Given the description of an element on the screen output the (x, y) to click on. 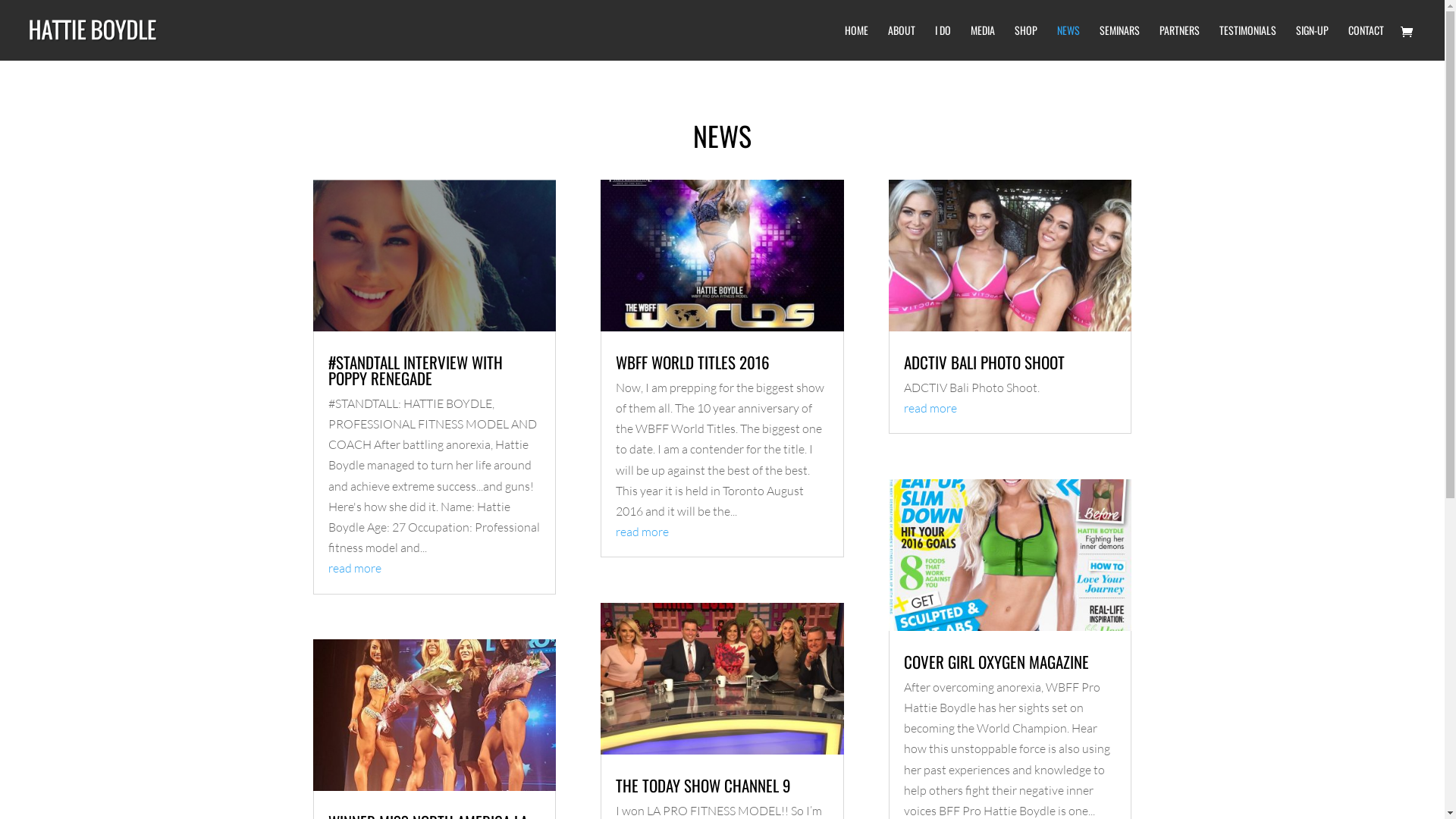
I DO Element type: text (942, 42)
SEMINARS Element type: text (1119, 42)
NEWS Element type: text (1068, 42)
read more Element type: text (641, 531)
ABOUT Element type: text (901, 42)
SHOP Element type: text (1025, 42)
PARTNERS Element type: text (1179, 42)
WBFF WORLD TITLES 2016 Element type: text (692, 361)
read more Element type: text (930, 407)
ADCTIV BALI PHOTO SHOOT Element type: text (983, 361)
TESTIMONIALS Element type: text (1247, 42)
MEDIA Element type: text (982, 42)
#STANDTALL INTERVIEW WITH POPPY RENEGADE Element type: text (414, 369)
CONTACT Element type: text (1365, 42)
THE TODAY SHOW CHANNEL 9 Element type: text (702, 785)
read more Element type: text (353, 567)
HOME Element type: text (856, 42)
COVER GIRL OXYGEN MAGAZINE Element type: text (995, 661)
SIGN-UP Element type: text (1311, 42)
